Given the description of an element on the screen output the (x, y) to click on. 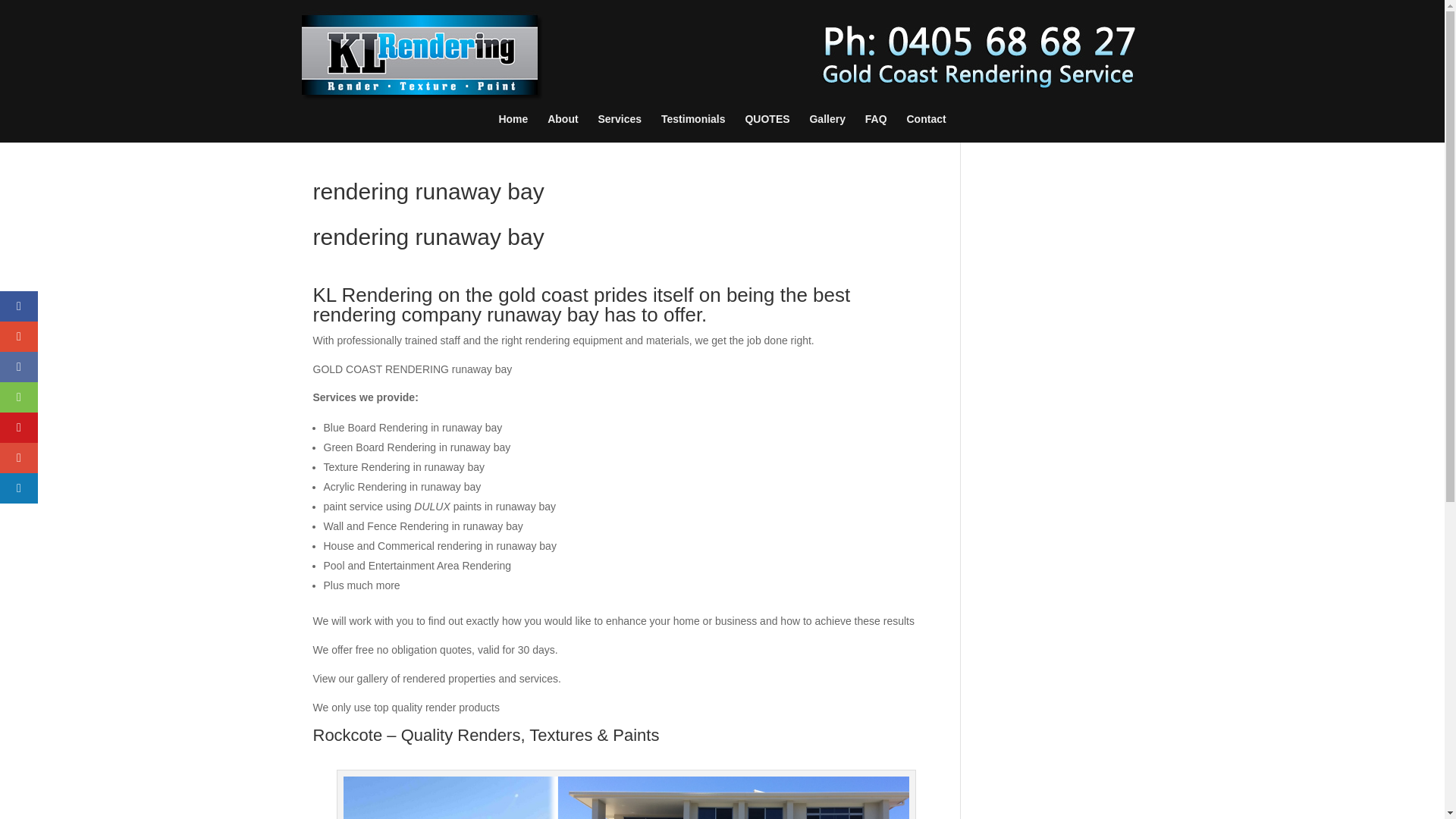
Testimonials (693, 129)
About (562, 129)
Services (619, 129)
Gallery (826, 129)
Contact (926, 129)
QUOTES (766, 129)
FAQ (875, 129)
Home (512, 129)
rendering runaway bay (625, 797)
